Given the description of an element on the screen output the (x, y) to click on. 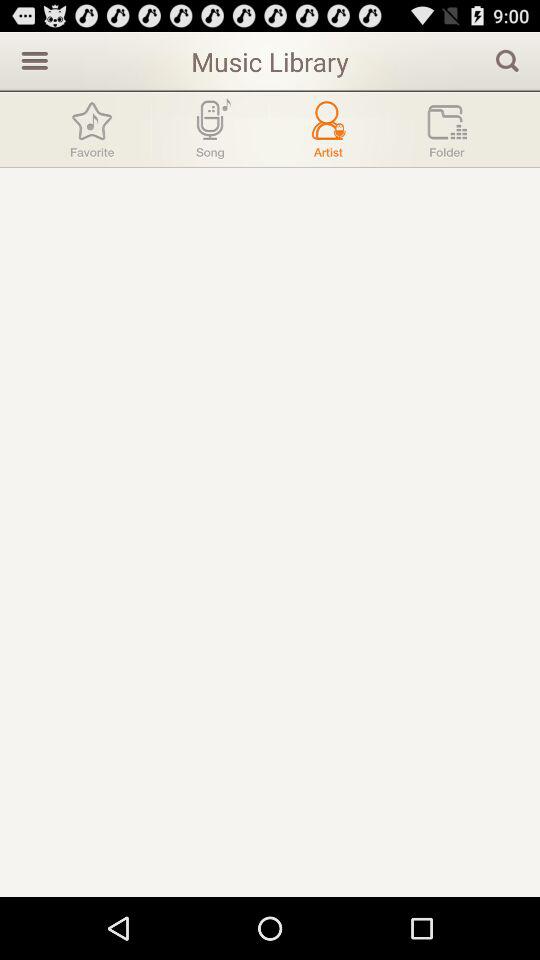
turn off icon next to the music library item (507, 60)
